Given the description of an element on the screen output the (x, y) to click on. 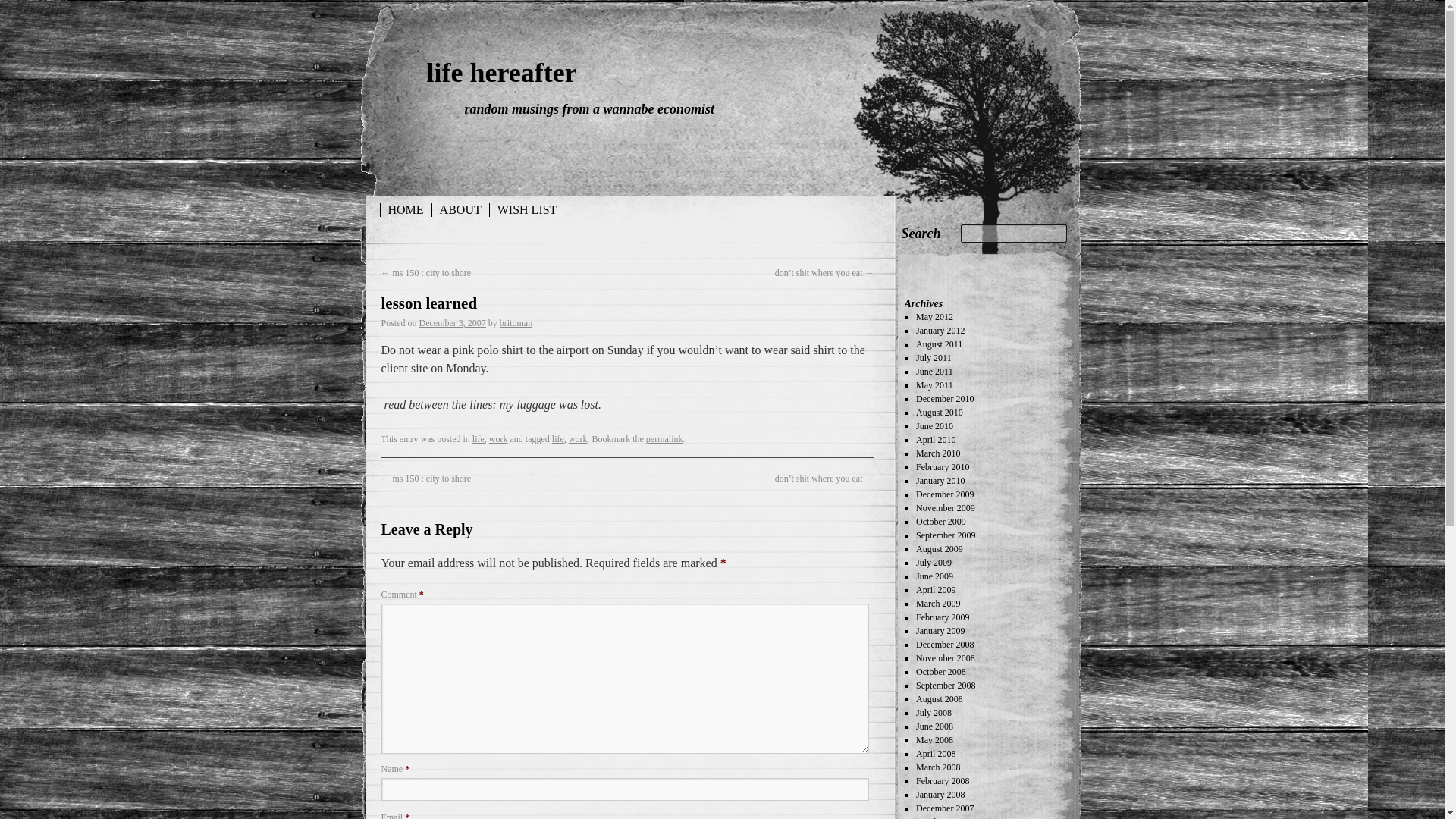
August 2011 (938, 344)
December 2010 (944, 398)
November 2009 (945, 507)
June 2009 (934, 575)
February 2010 (942, 466)
March 2009 (937, 603)
ABOUT (460, 210)
May 2011 (934, 385)
June 2010 (934, 425)
work (498, 439)
